Given the description of an element on the screen output the (x, y) to click on. 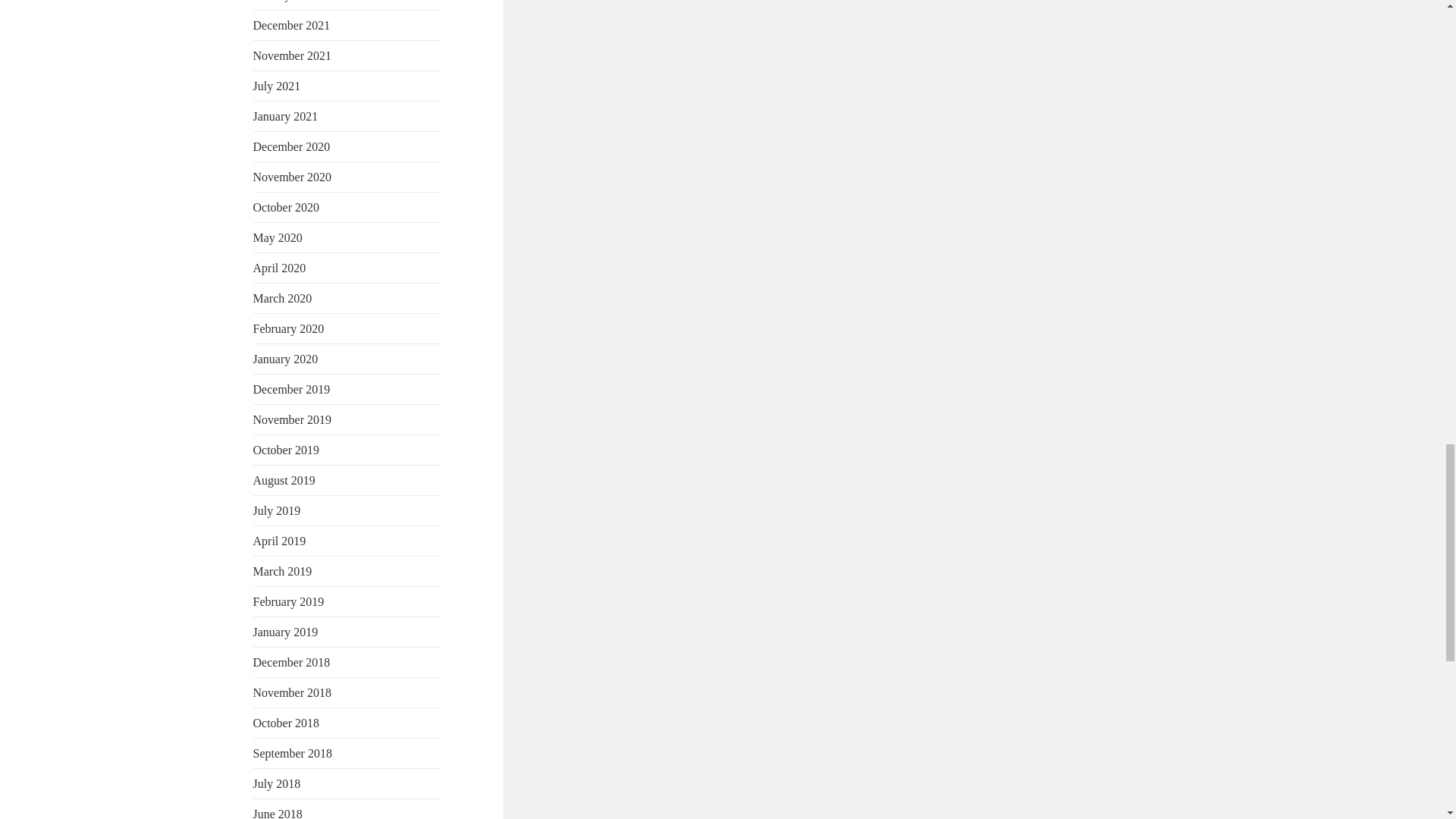
December 2021 (291, 24)
January 2022 (285, 0)
November 2021 (292, 55)
